Given the description of an element on the screen output the (x, y) to click on. 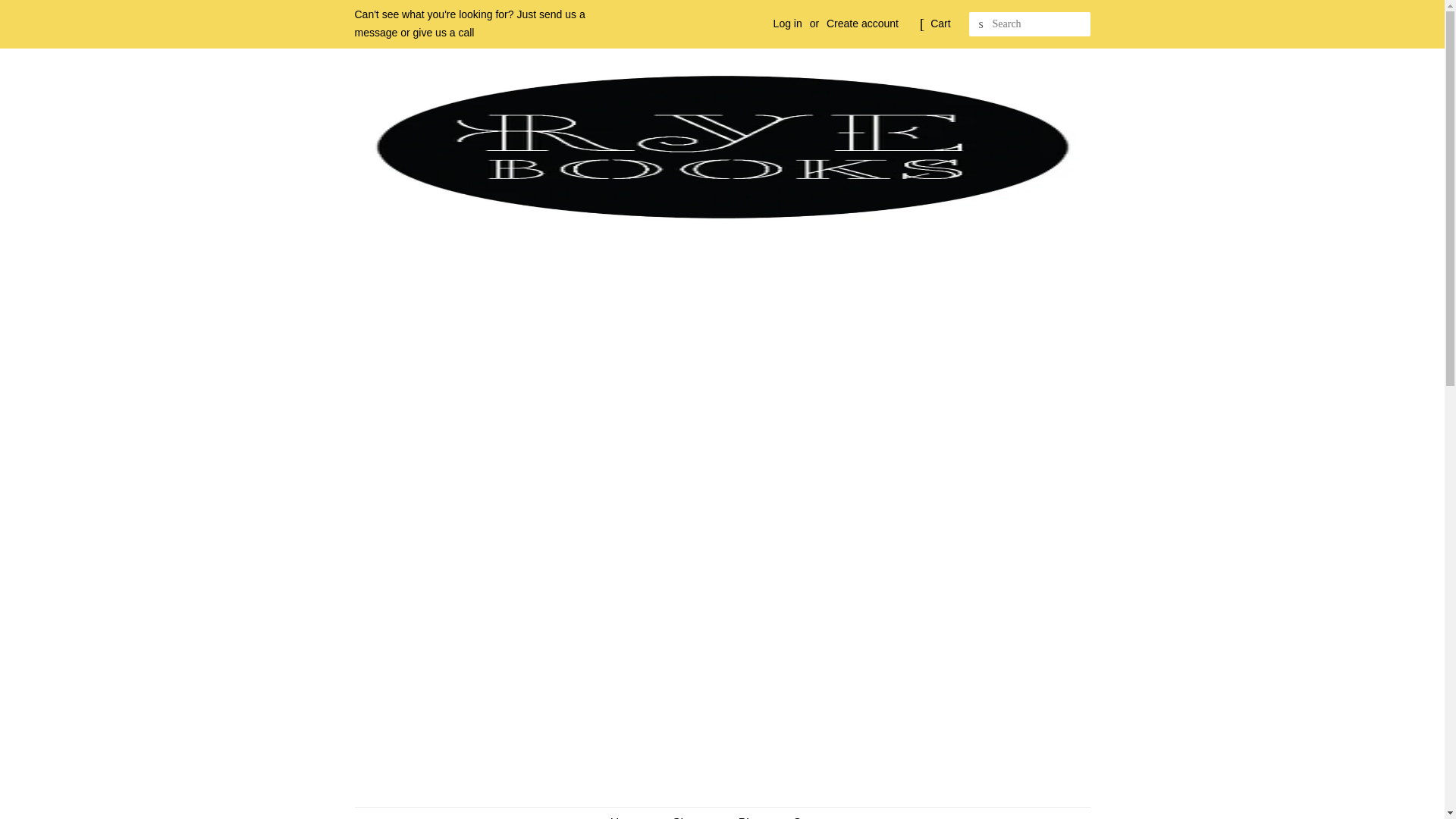
Cart (940, 24)
Create account (862, 23)
Search (980, 24)
Log in (787, 23)
